Given the description of an element on the screen output the (x, y) to click on. 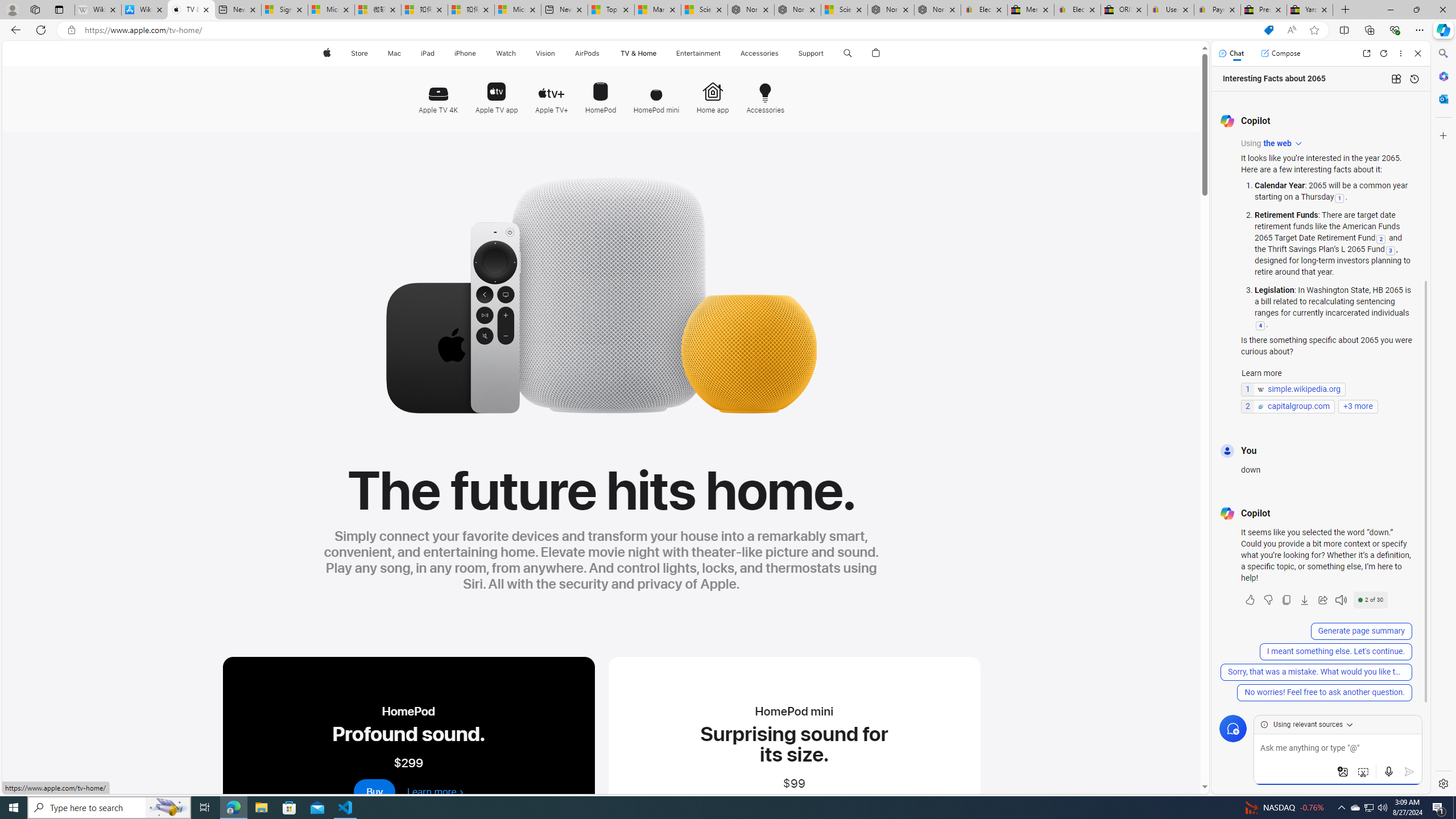
Class: globalnav-submenu-trigger-item (825, 53)
Vision (545, 53)
Payments Terms of Use | eBay.com (1216, 9)
Apple TV 4K (441, 92)
iPhone (464, 53)
Apple TV+ (551, 93)
Compose (1280, 52)
Outlook (1442, 98)
Microsoft account | Account Checkup (517, 9)
iPad (427, 53)
Support menu (825, 53)
